Given the description of an element on the screen output the (x, y) to click on. 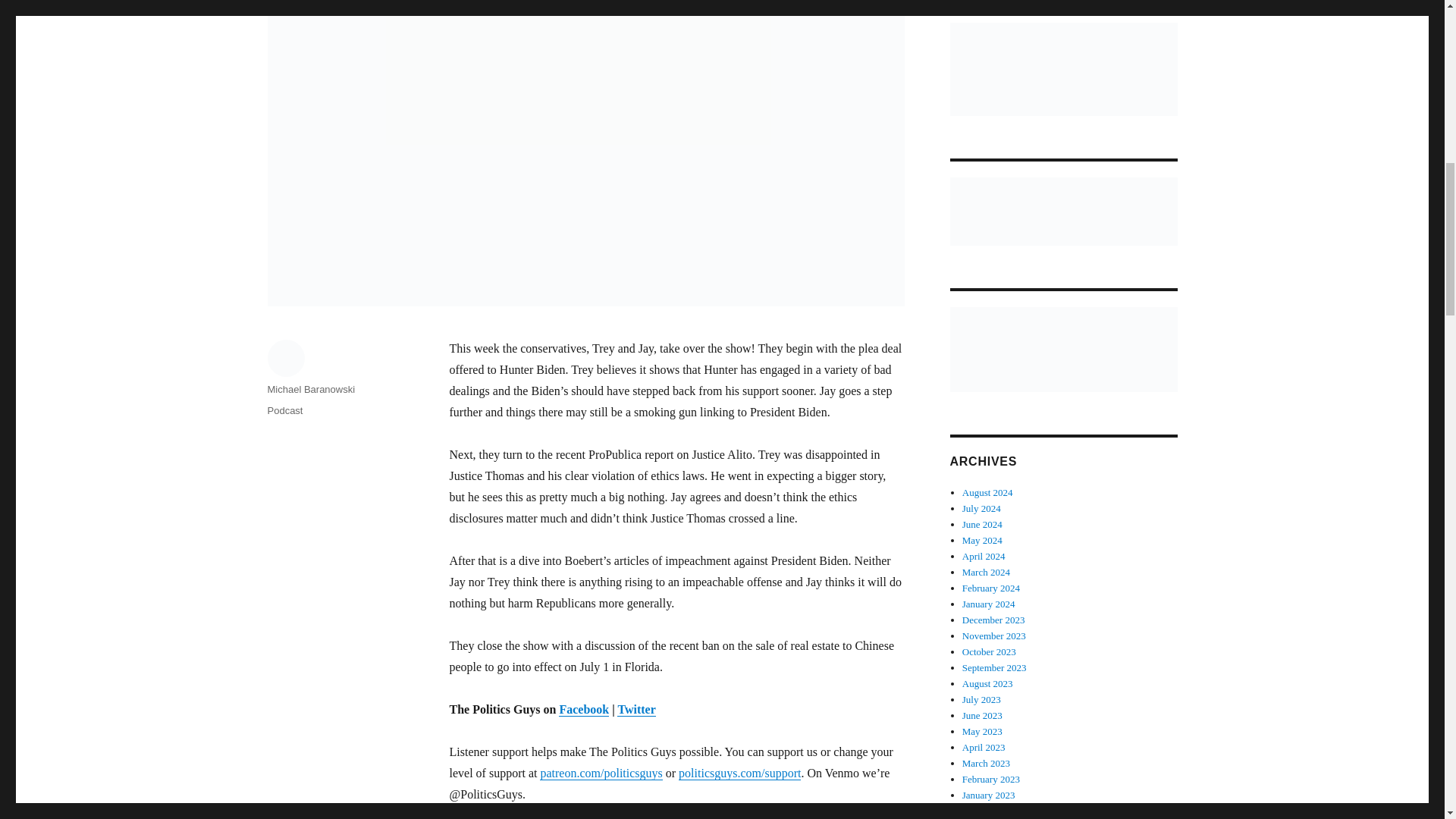
Facebook (583, 708)
April 2024 (984, 555)
October 2023 (989, 651)
Twitter (636, 708)
January 2024 (988, 603)
February 2024 (991, 587)
November 2023 (994, 635)
June 2024 (982, 523)
December 2023 (993, 619)
Podcast (284, 410)
